Given the description of an element on the screen output the (x, y) to click on. 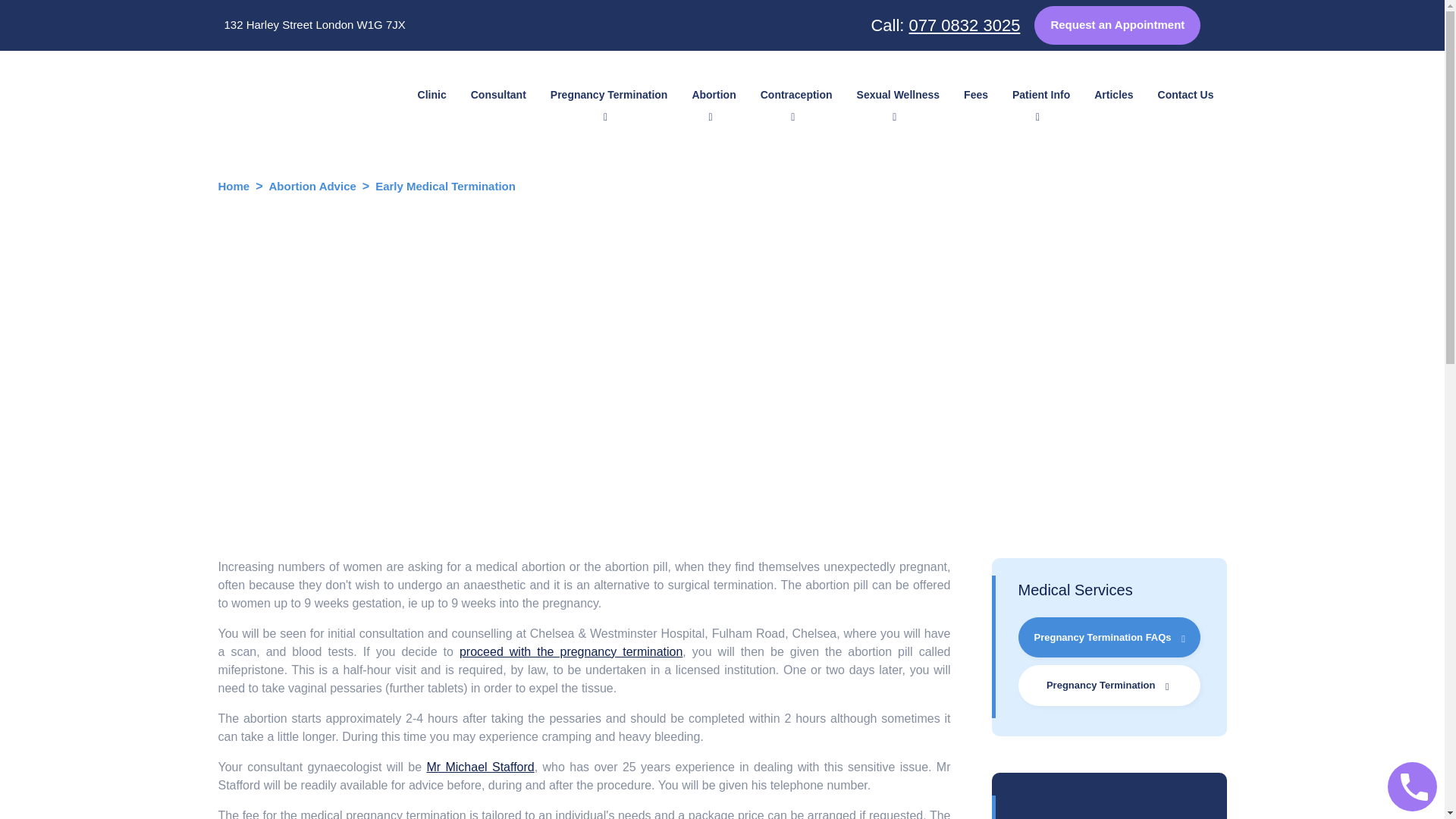
Abortion (713, 94)
Request an Appointment (1116, 25)
Contraception (796, 94)
Clinic (432, 94)
Pregnancy Termination (608, 94)
Patient Info (1040, 94)
Articles (1112, 94)
Consultant (498, 94)
077 0832 3025 (964, 25)
Sexual Wellness (898, 94)
